Given the description of an element on the screen output the (x, y) to click on. 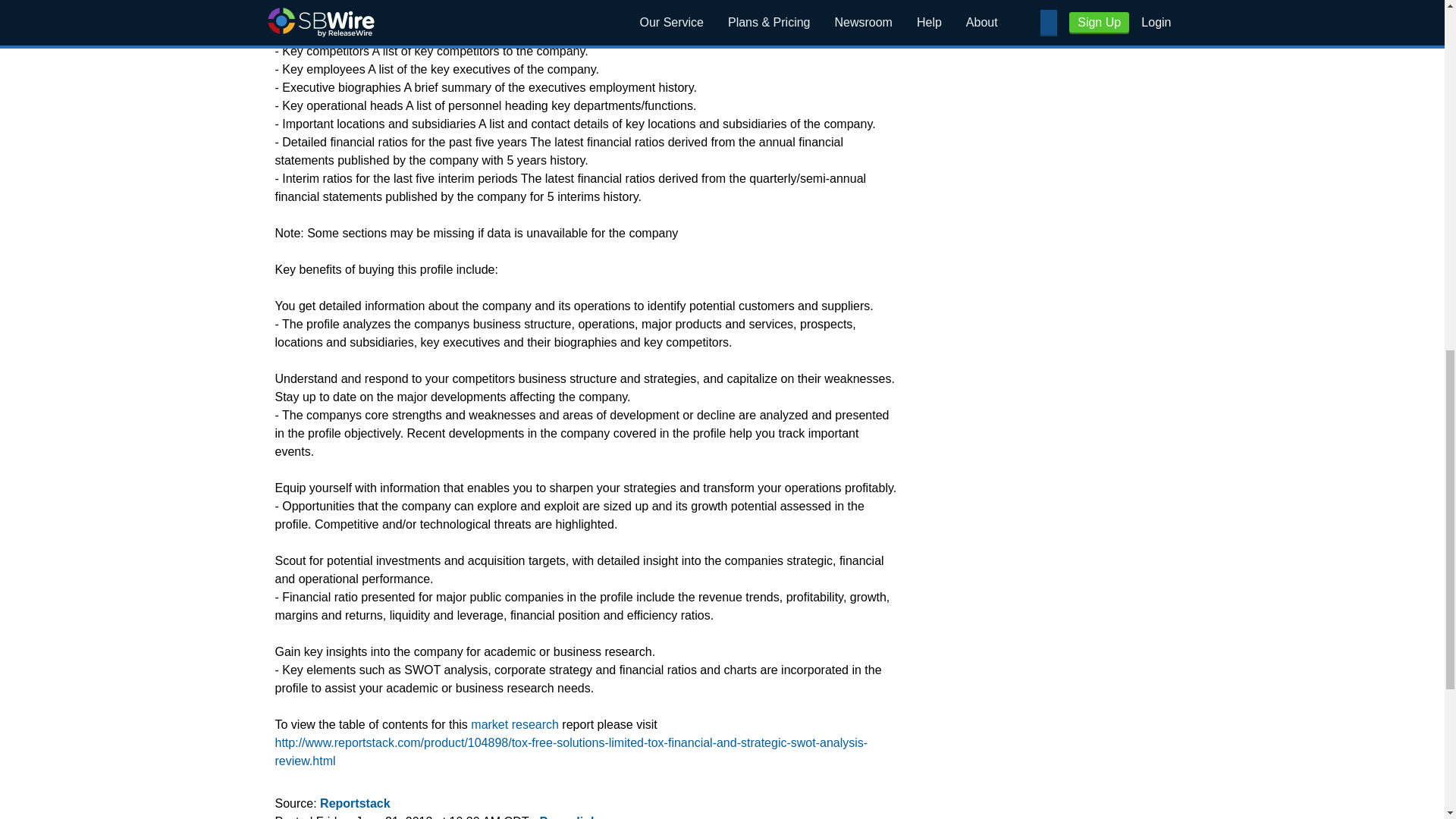
market research (514, 724)
Reportstack (355, 802)
market research (514, 724)
Permalink (567, 816)
